Given the description of an element on the screen output the (x, y) to click on. 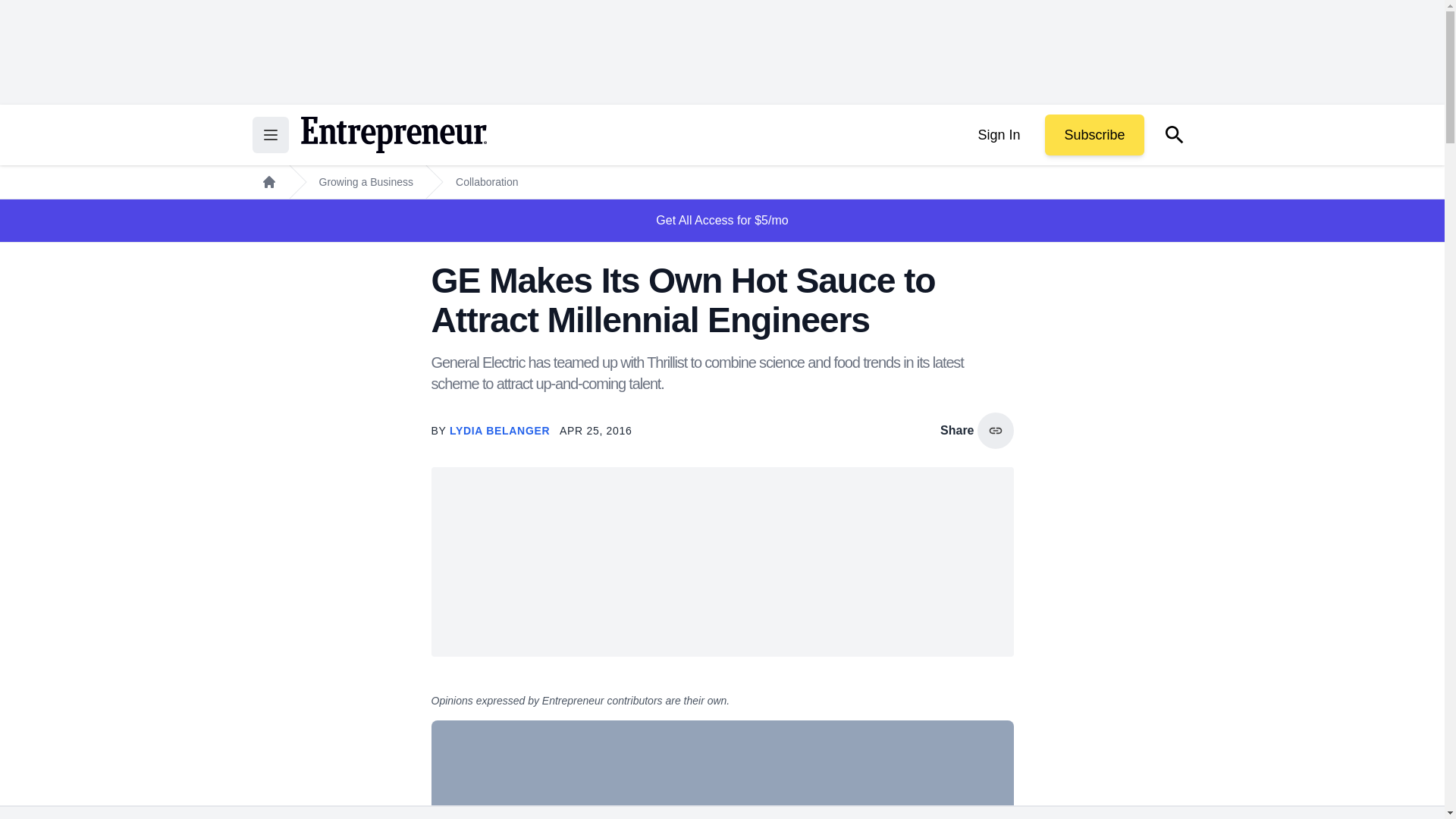
Sign In (998, 134)
copy (994, 430)
Return to the home page (392, 135)
Subscribe (1093, 134)
